Given the description of an element on the screen output the (x, y) to click on. 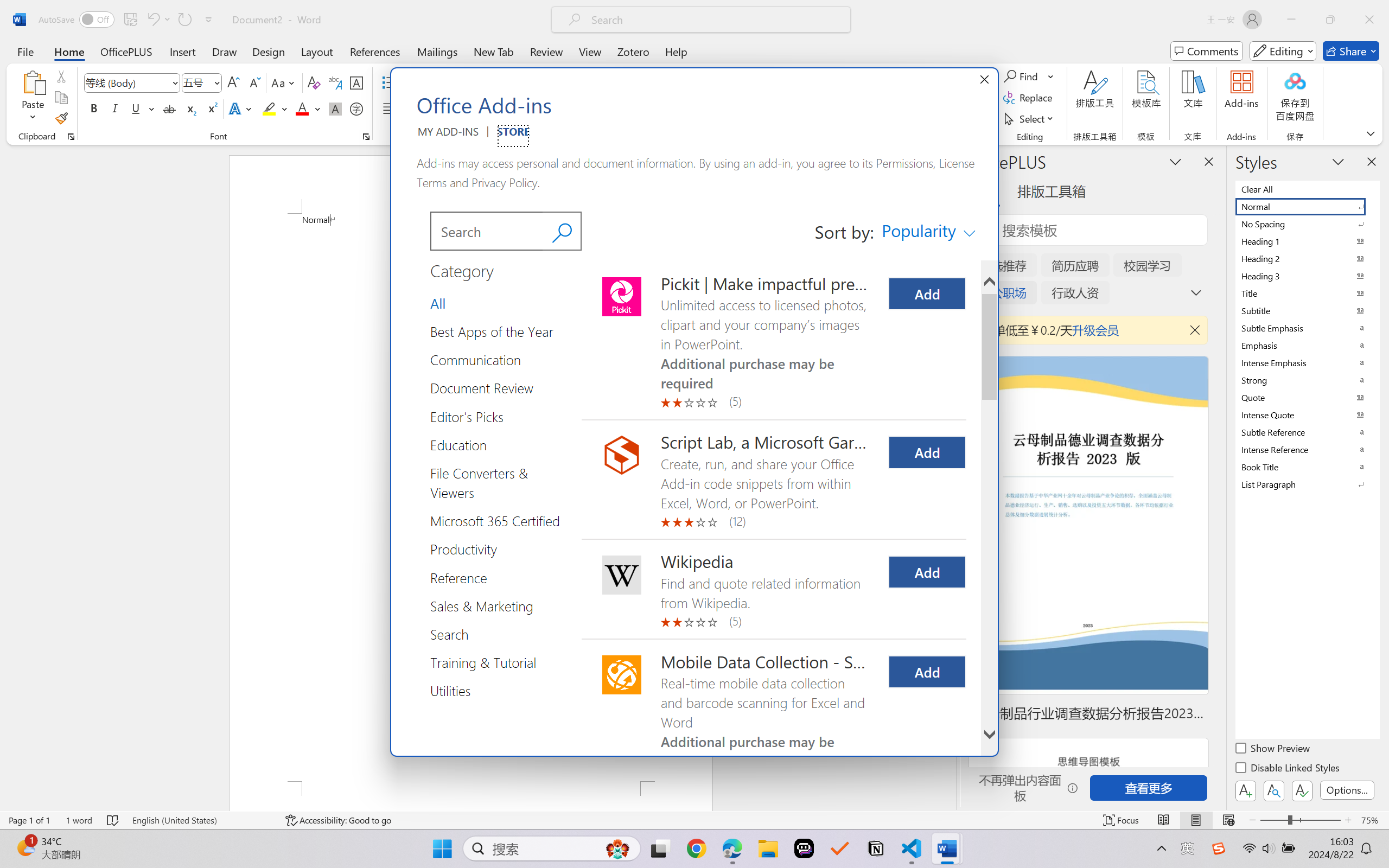
Intense Reference (1306, 449)
View (589, 51)
Emphasis (1306, 345)
Normal (1306, 206)
Font Color Red (302, 108)
Zotero (632, 51)
Add Wikipedia (926, 571)
Add Pickit | Make impactful presentations in minutes (926, 293)
Intense Quote (1306, 414)
Clear All (1306, 188)
Search (486, 230)
Read Mode (1163, 819)
